Given the description of an element on the screen output the (x, y) to click on. 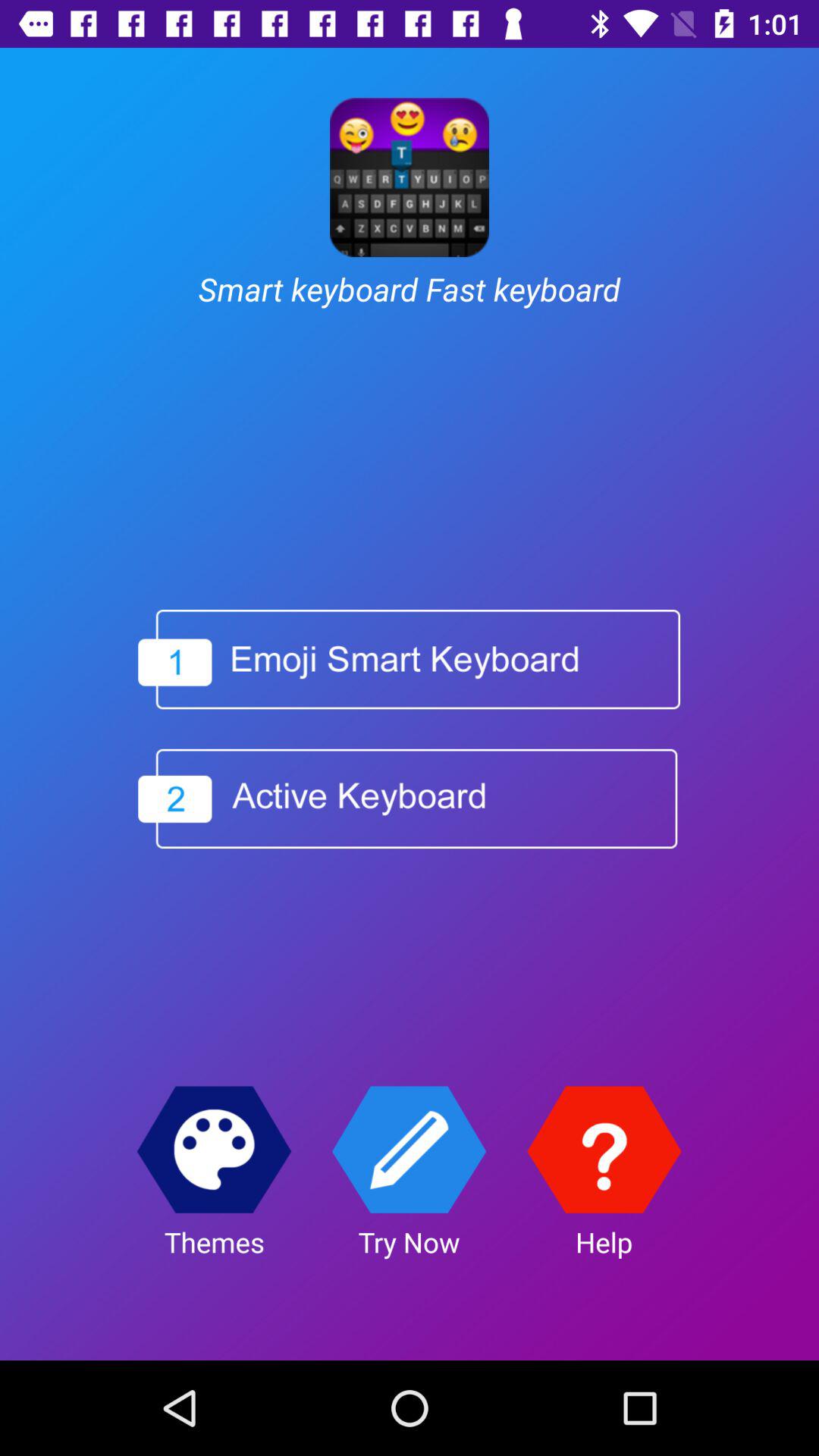
select the app above the help item (603, 1149)
